Given the description of an element on the screen output the (x, y) to click on. 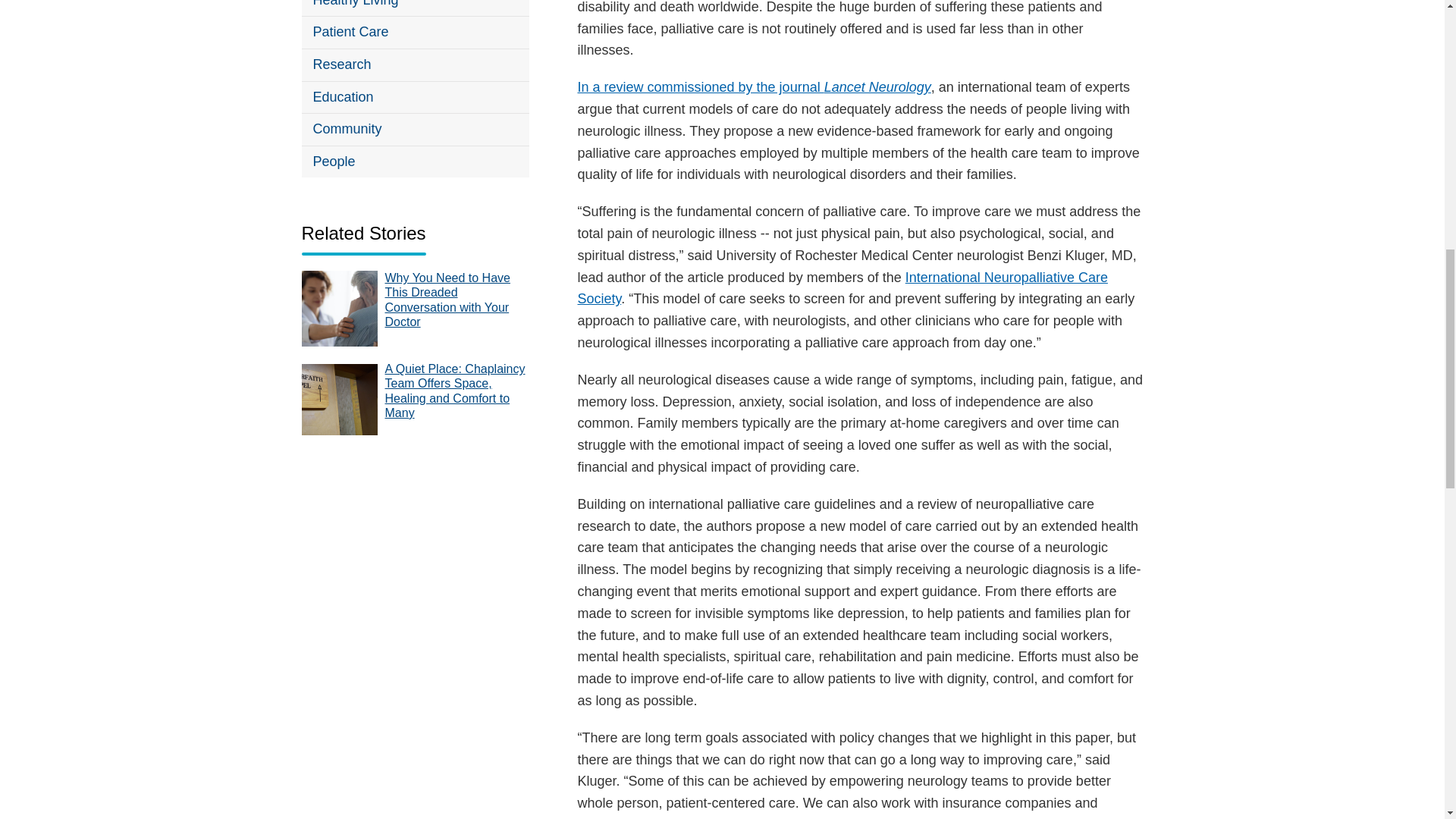
International Neuropalliative Care Society (843, 288)
In a review commissioned by the journal Lancet Neurology (754, 87)
